Given the description of an element on the screen output the (x, y) to click on. 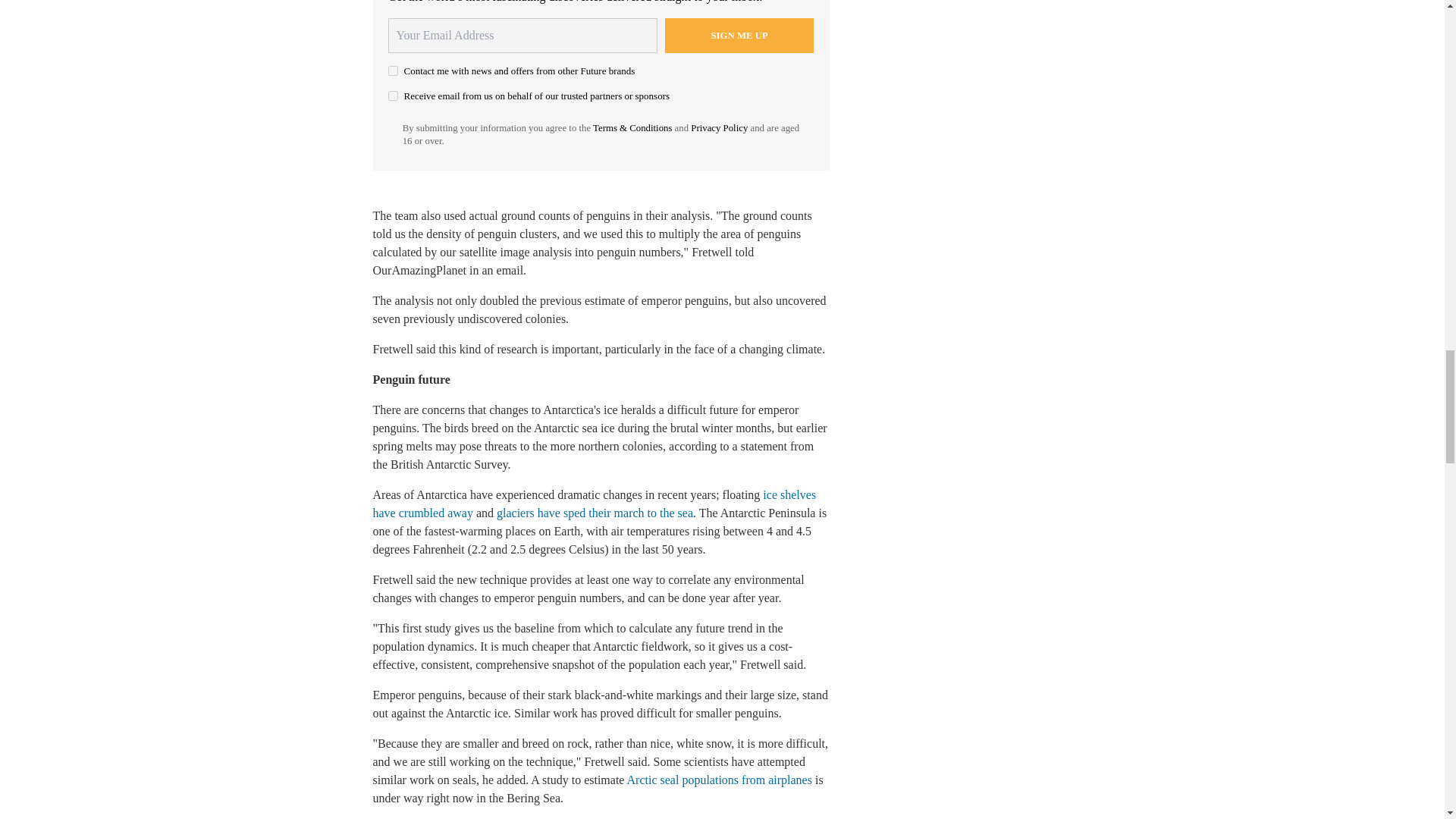
Sign me up (739, 35)
on (392, 71)
on (392, 95)
